Given the description of an element on the screen output the (x, y) to click on. 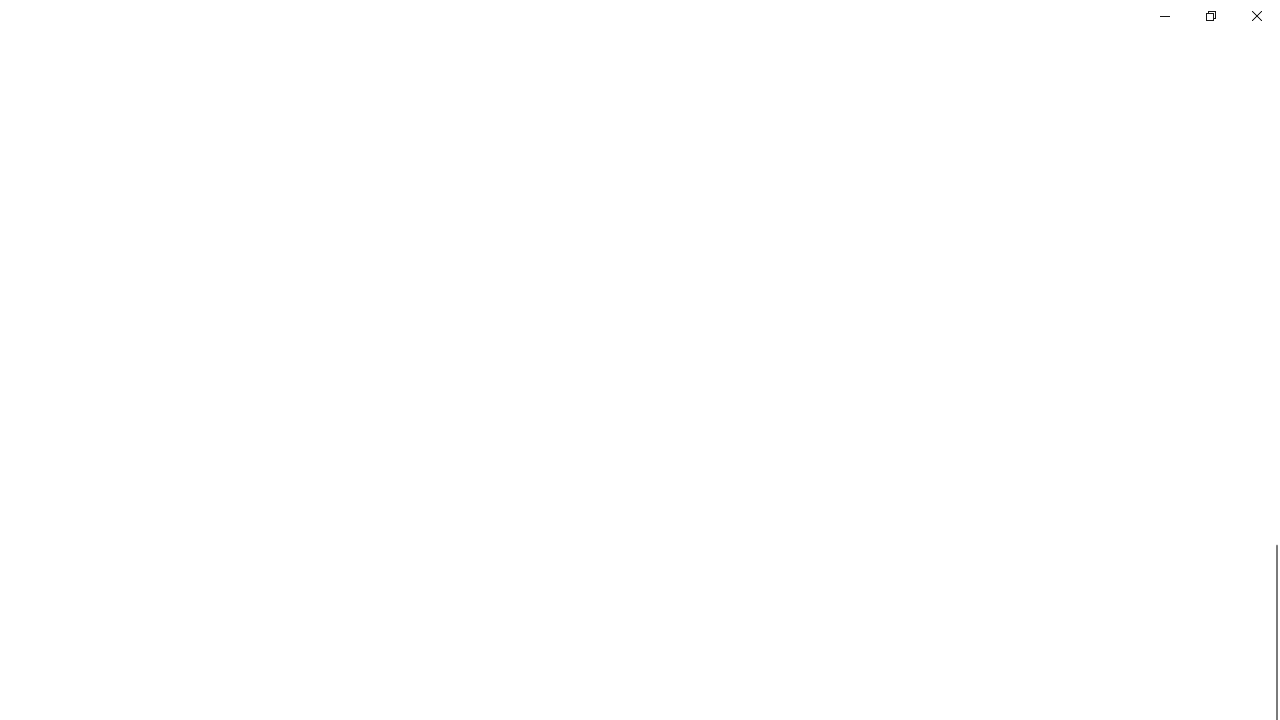
Vertical Large Decrease (1272, 328)
Vertical Small Decrease (1272, 103)
